Given the description of an element on the screen output the (x, y) to click on. 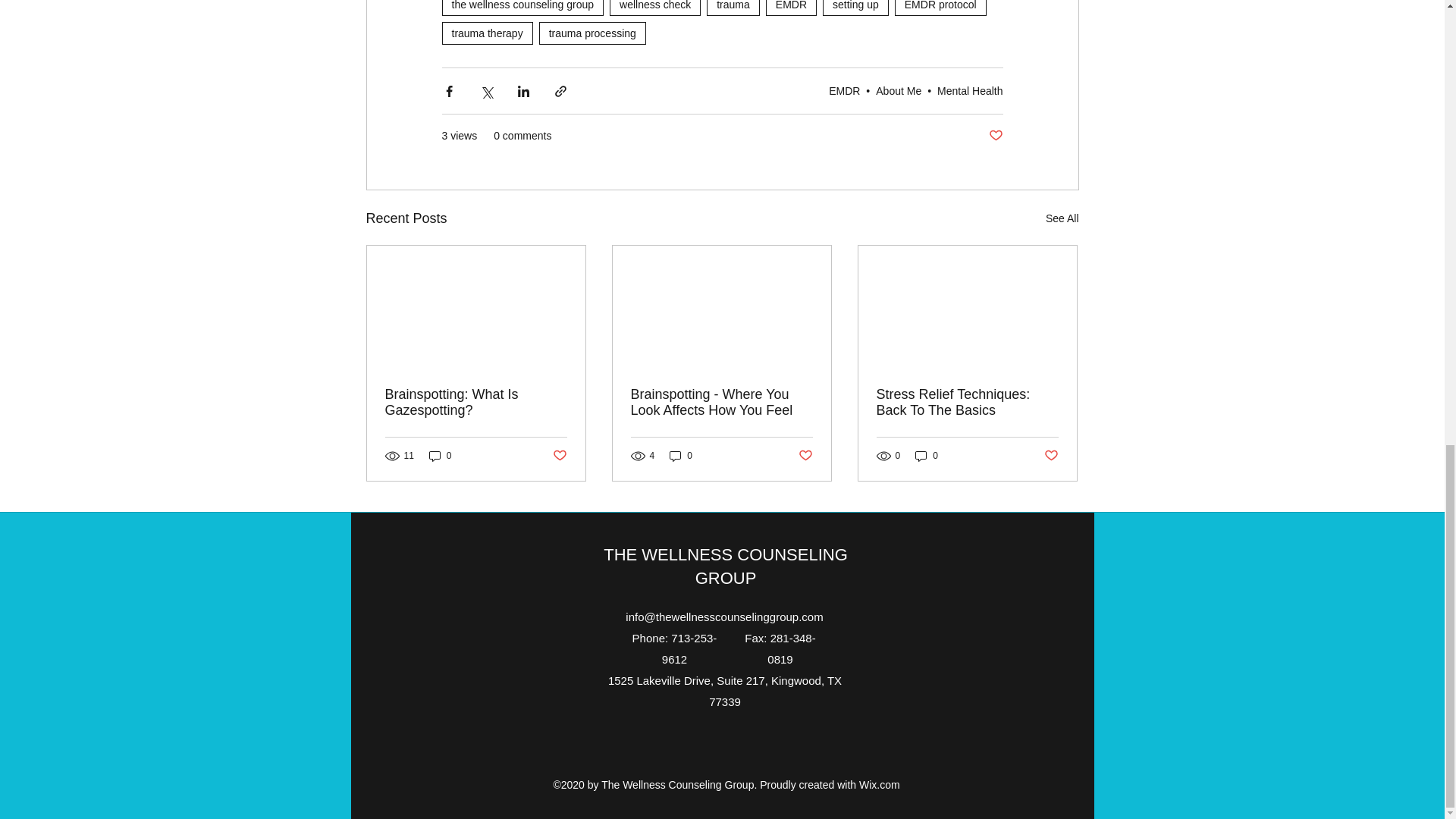
Brainspotting: What Is Gazespotting? (476, 402)
About Me (898, 91)
trauma processing (592, 33)
EMDR (844, 91)
wellness check (655, 7)
EMDR (790, 7)
trauma (733, 7)
trauma therapy (486, 33)
Post not marked as liked (804, 455)
Mental Health (970, 91)
Post not marked as liked (1050, 455)
Stress Relief Techniques: Back To The Basics (967, 402)
the wellness counseling group (522, 7)
THE WELLNESS COUNSELING GROUP (725, 566)
0 (440, 455)
